Given the description of an element on the screen output the (x, y) to click on. 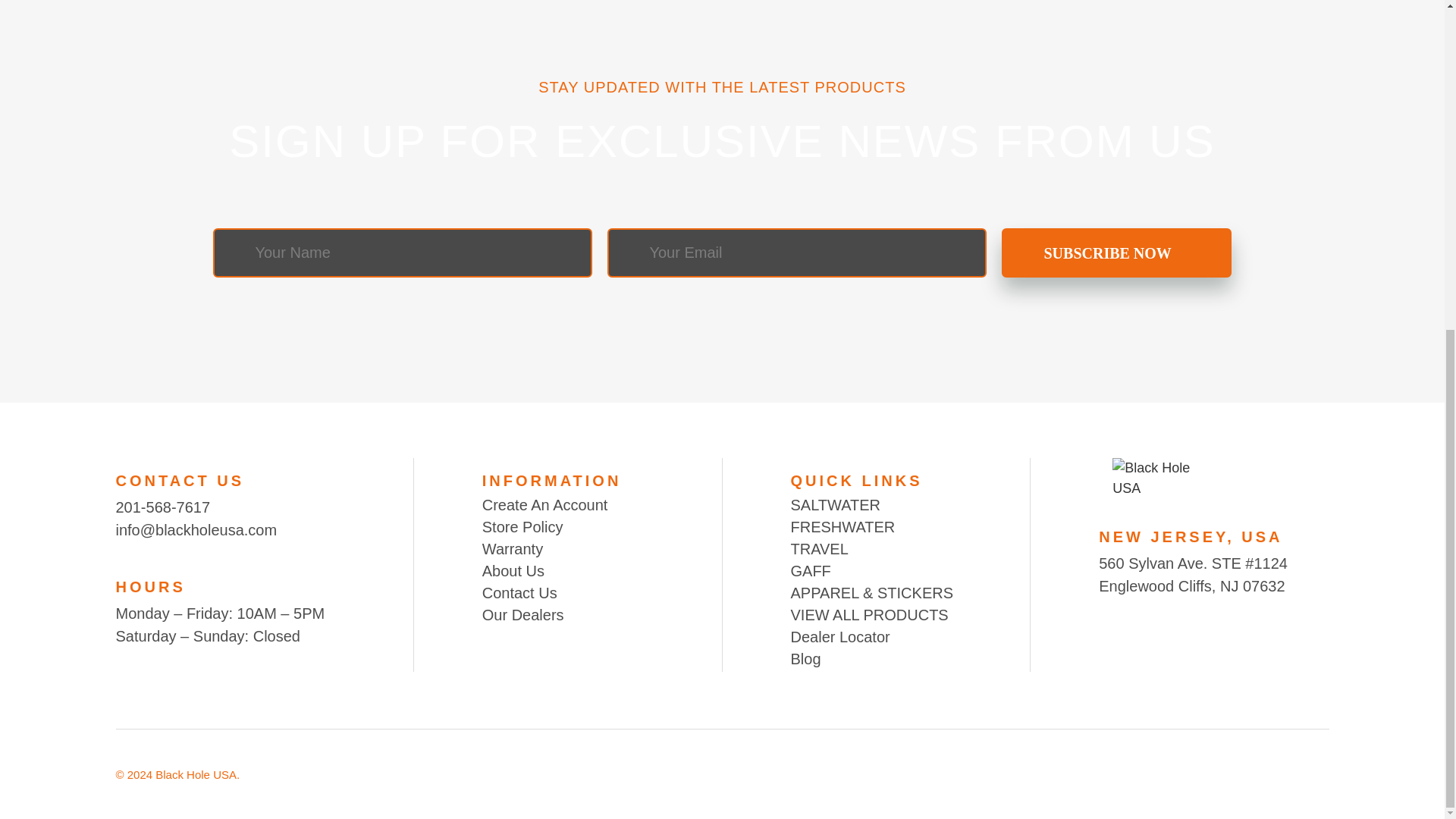
Facebook (1185, 634)
Instagram (1145, 634)
Black Hole USA (1152, 477)
Youtube (1105, 634)
